Given the description of an element on the screen output the (x, y) to click on. 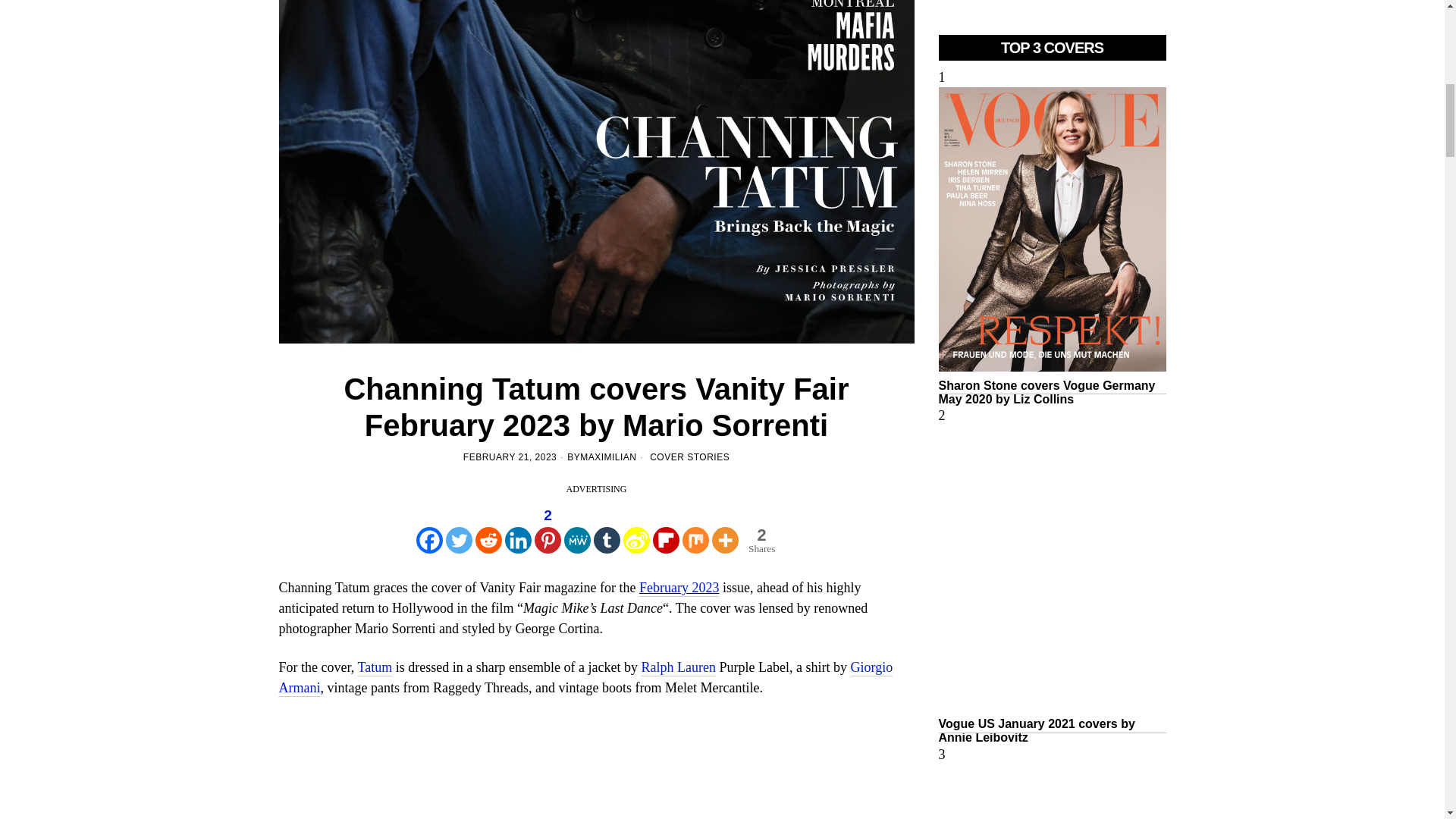
COVER STORIES (689, 457)
21 Feb, 2023 08:00:30 (509, 457)
MAXIMILIAN (607, 457)
